Given the description of an element on the screen output the (x, y) to click on. 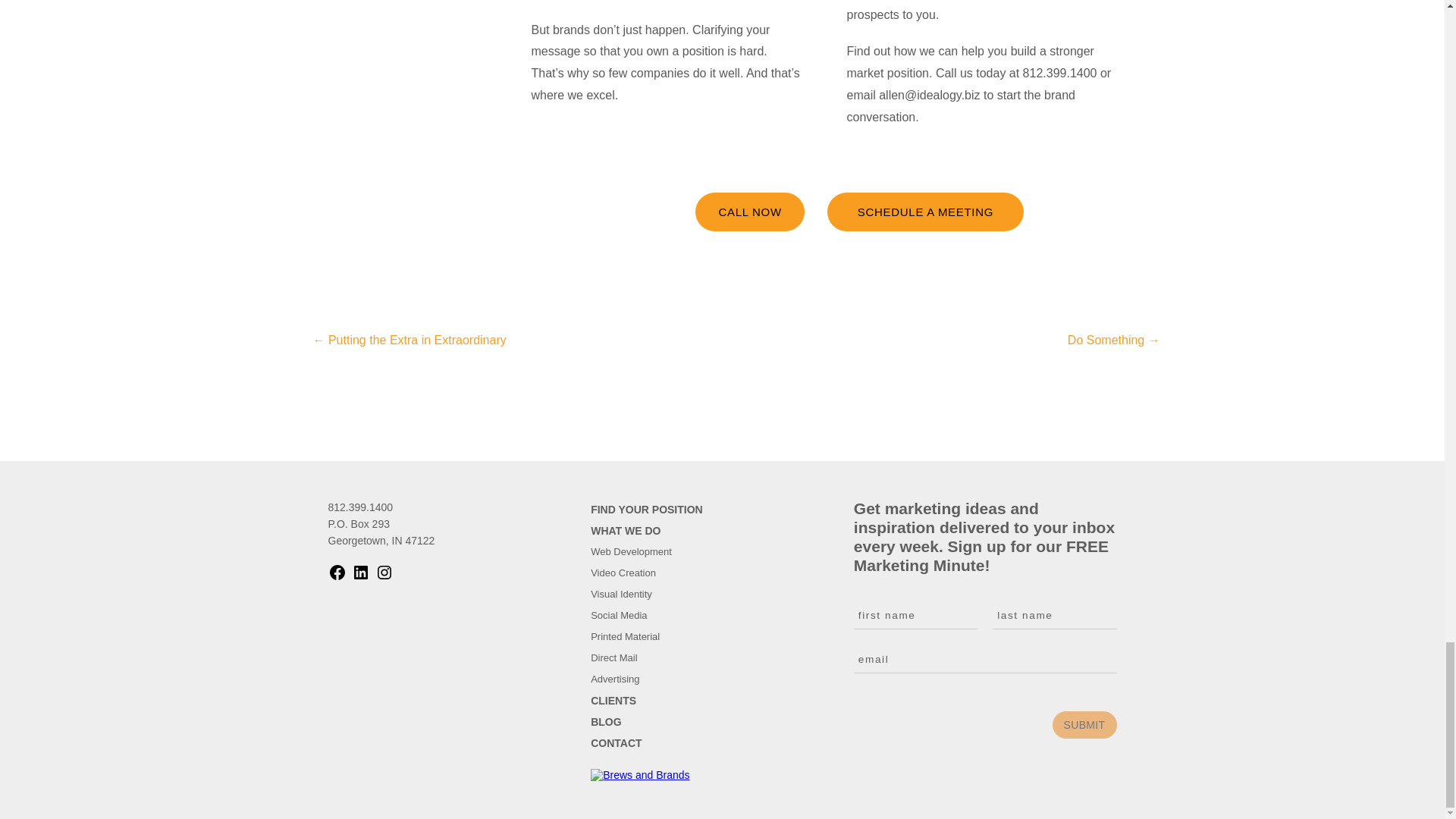
WHAT WE DO (626, 530)
Direct Mail (614, 657)
Advertising (615, 678)
Visual Identity (621, 593)
Video Creation (623, 572)
Social Media (618, 614)
Printed Material (625, 636)
CALL NOW (749, 211)
CLIENTS (613, 700)
FIND YOUR POSITION (647, 509)
BLOG (606, 721)
SCHEDULE A MEETING (925, 211)
Web Development (631, 551)
